Given the description of an element on the screen output the (x, y) to click on. 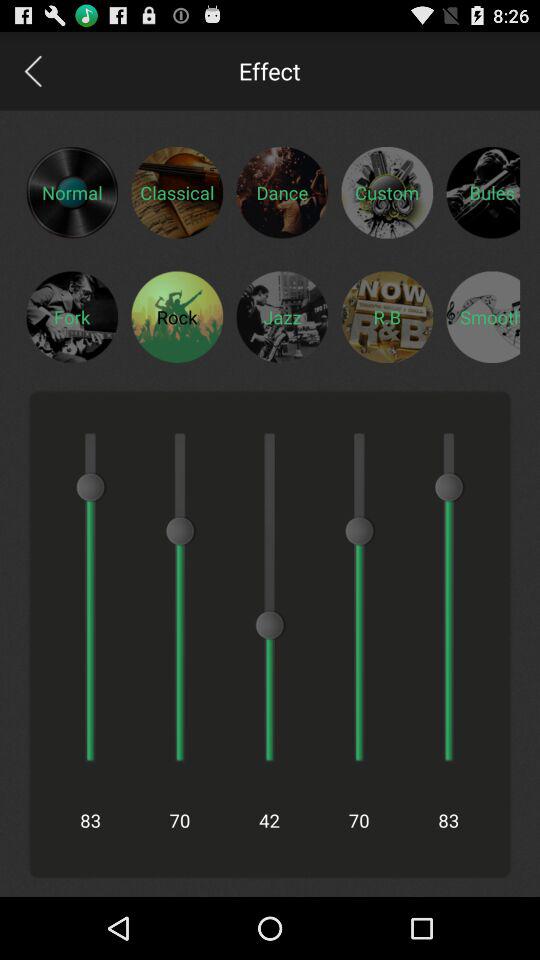
go back to previous screen (32, 70)
